Given the description of an element on the screen output the (x, y) to click on. 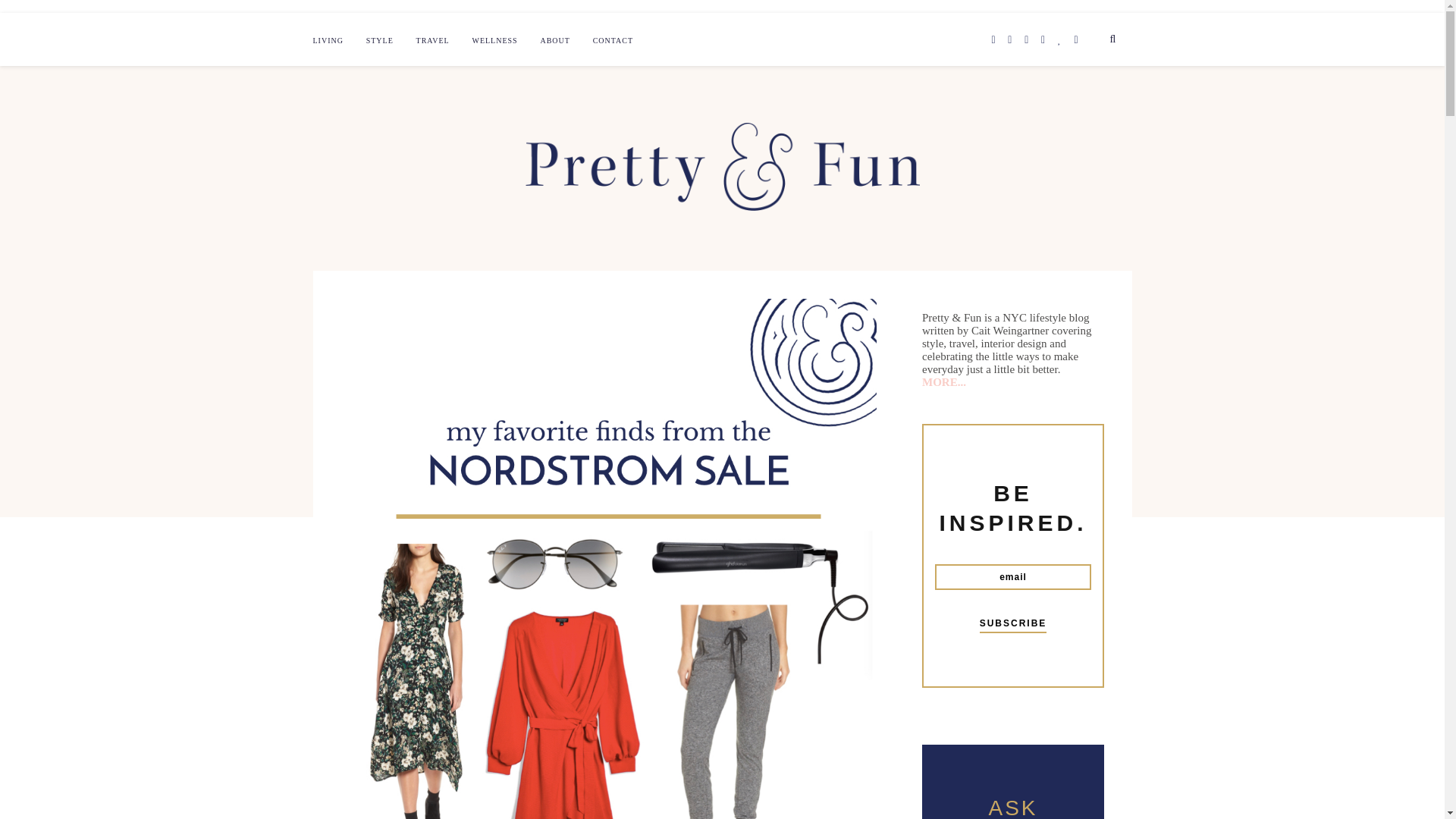
Style (379, 40)
STYLE (379, 40)
WELLNESS (493, 40)
LIVING (327, 40)
Travel (432, 40)
Wellness (493, 40)
CONTACT (612, 40)
TRAVEL (432, 40)
Living (327, 40)
SUBSCRIBE (1012, 626)
